Given the description of an element on the screen output the (x, y) to click on. 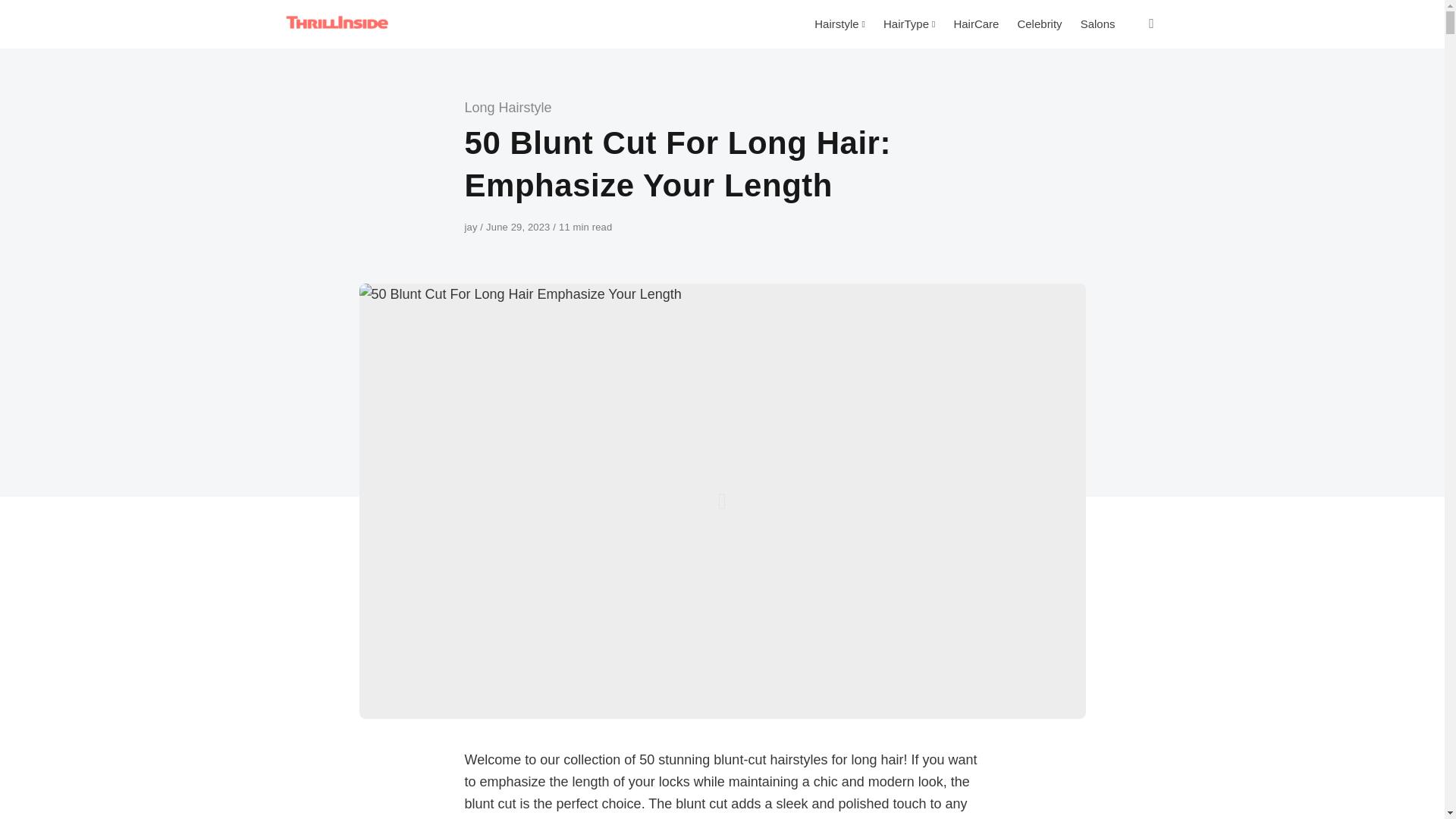
Salons (1097, 24)
jay (472, 226)
HairType (909, 24)
June 29, 2023 (519, 226)
Celebrity (1038, 24)
Hairstyle (840, 24)
Long Hairstyle (507, 107)
June 29, 2023 (519, 226)
HairCare (975, 24)
